Given the description of an element on the screen output the (x, y) to click on. 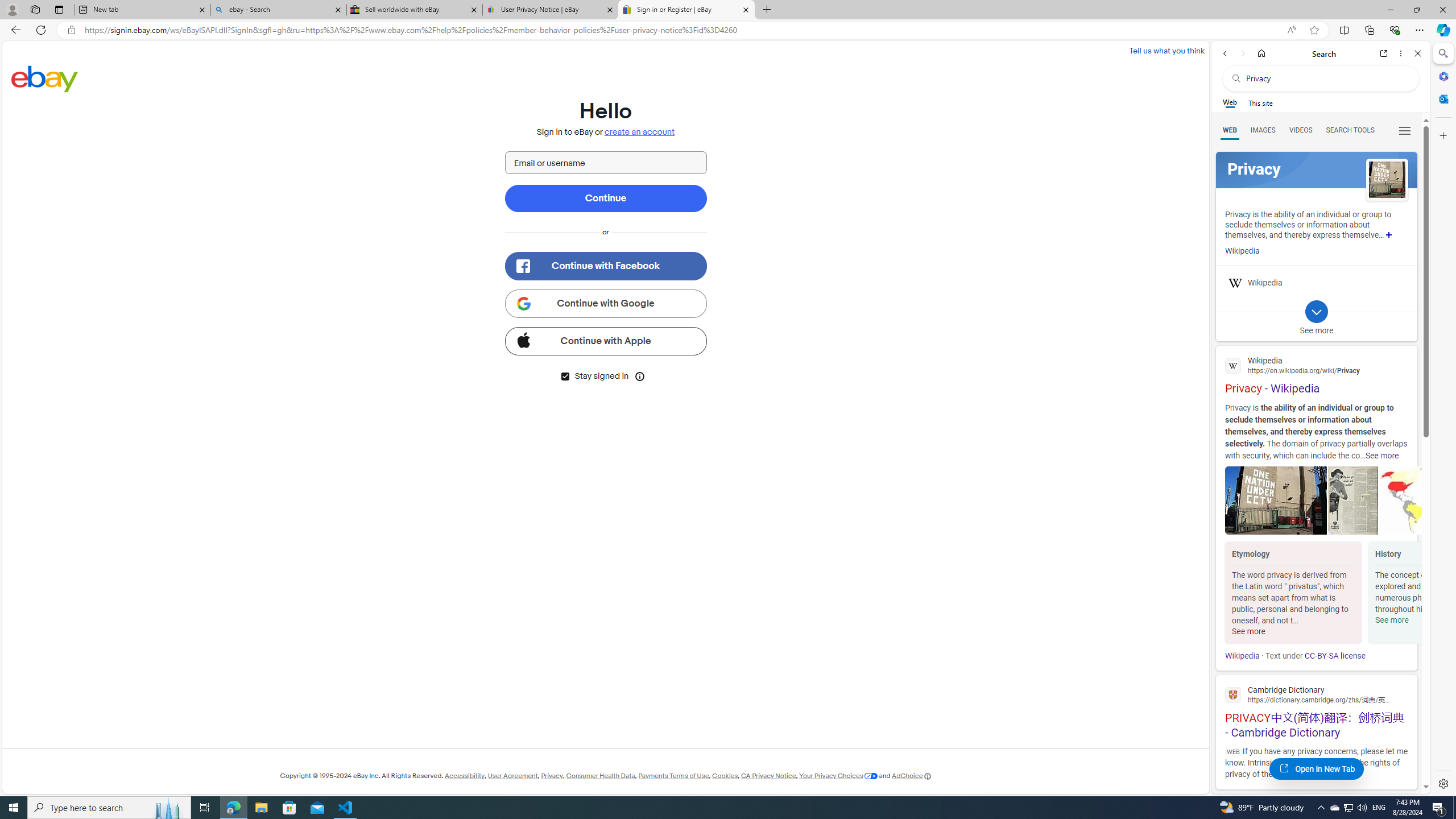
User Agreement (512, 775)
Preferences (1403, 129)
Forward (1242, 53)
Open link in new tab (1383, 53)
Class: icon-btn tooltip__host icon-btn--transparent (640, 375)
Side bar (1443, 418)
Click to scroll right (1407, 594)
eBay Home (44, 78)
Payments Terms of Use (673, 775)
